Given the description of an element on the screen output the (x, y) to click on. 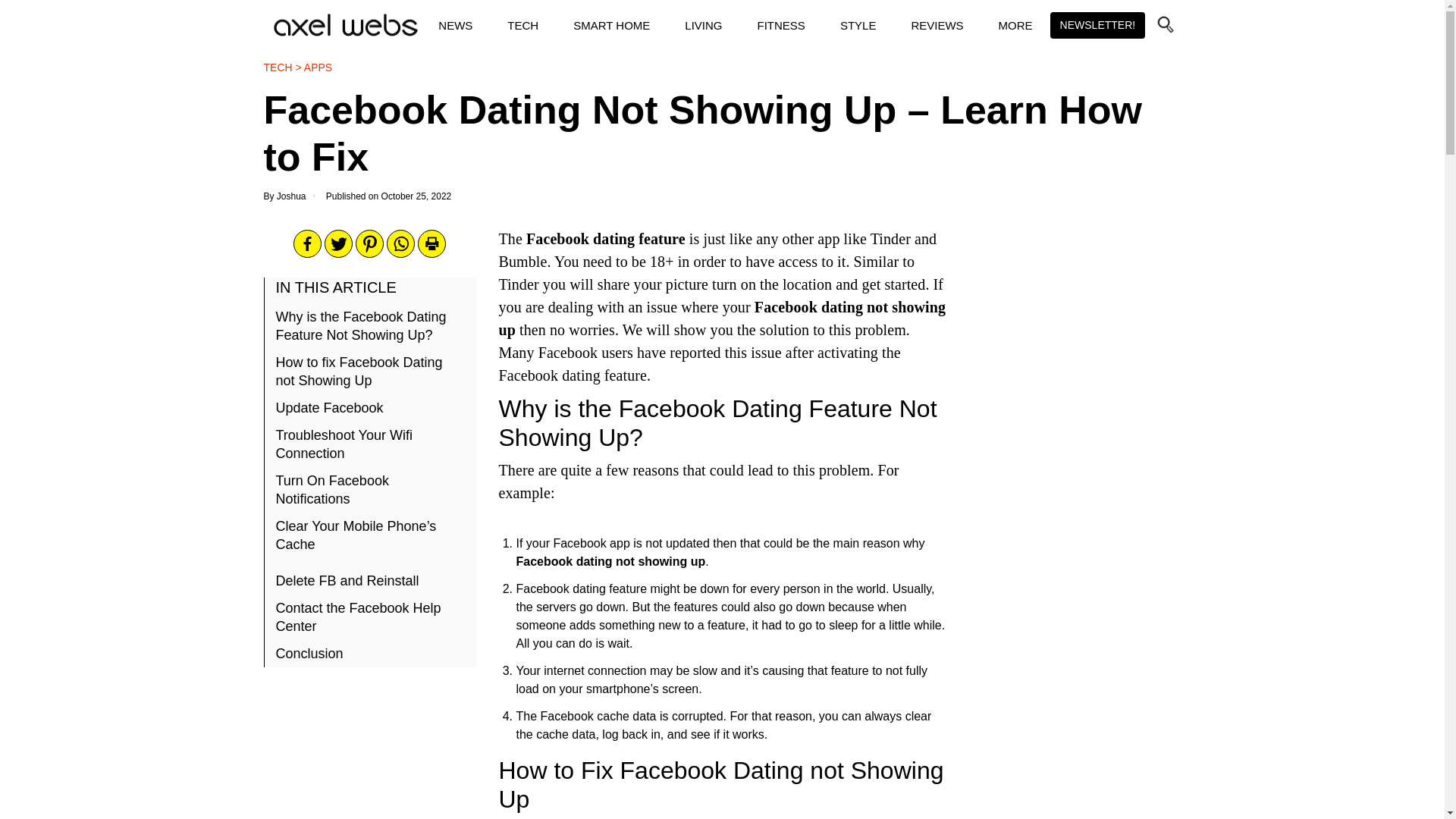
How to fix Facebook Dating not Showing Up (376, 370)
Twitter (338, 243)
SMART HOME (611, 25)
TECH (523, 25)
LIVING (702, 25)
FITNESS (780, 25)
MORE (1015, 25)
Contact the Facebook Help Center (376, 616)
REVIEWS (936, 25)
NEWS (454, 25)
